Given the description of an element on the screen output the (x, y) to click on. 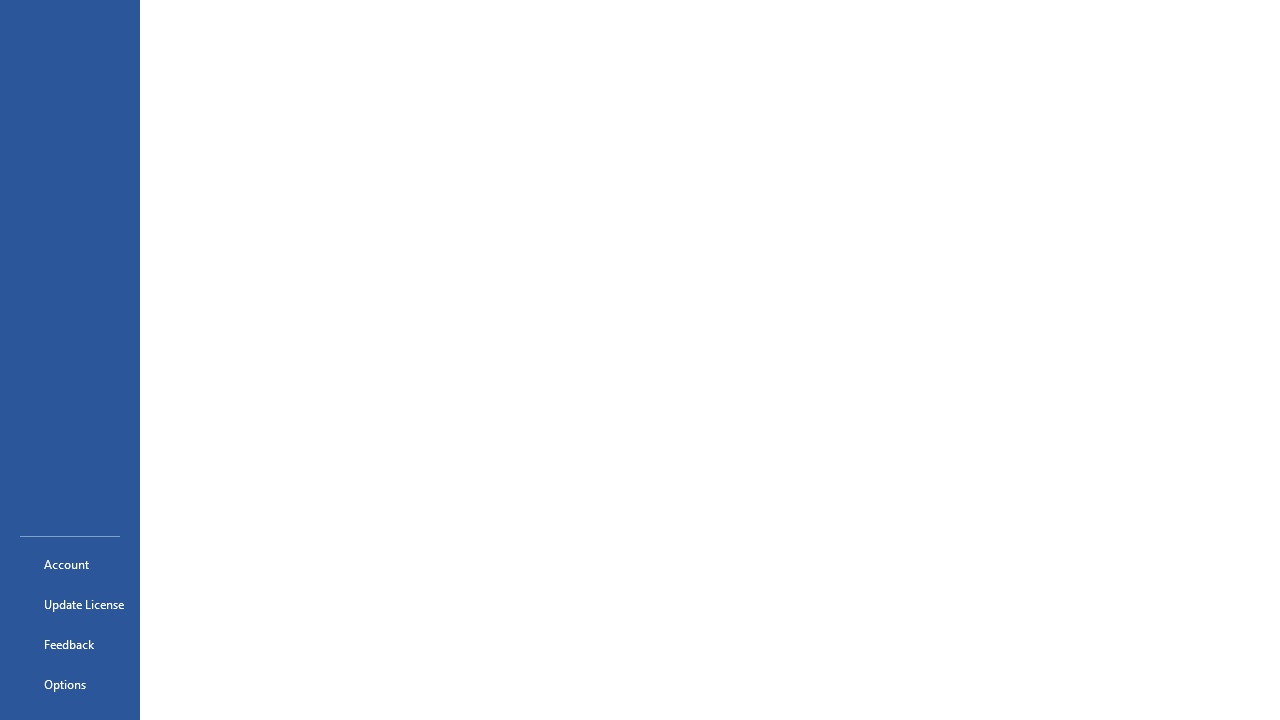
Options (69, 683)
Account (69, 563)
Update License (69, 603)
Feedback (69, 643)
